Given the description of an element on the screen output the (x, y) to click on. 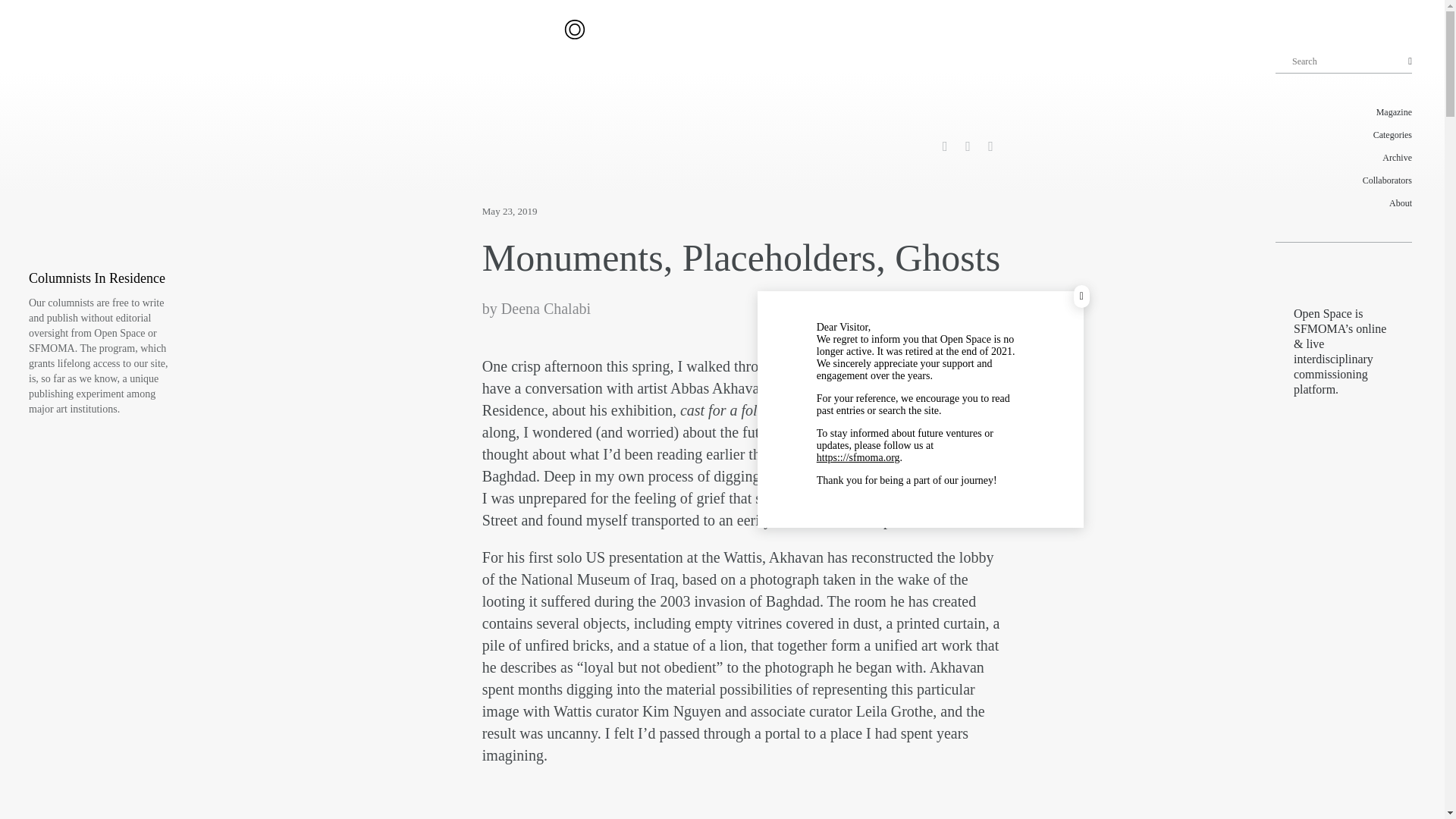
Deena Chalabi (545, 308)
Categories (1343, 134)
Columnists In Residence (97, 278)
www.sfmoma.org (857, 457)
Collaborators (1343, 179)
Magazine (1343, 111)
Archive (1343, 157)
View all posts in Columnists In Residence (97, 278)
About (1343, 202)
